Given the description of an element on the screen output the (x, y) to click on. 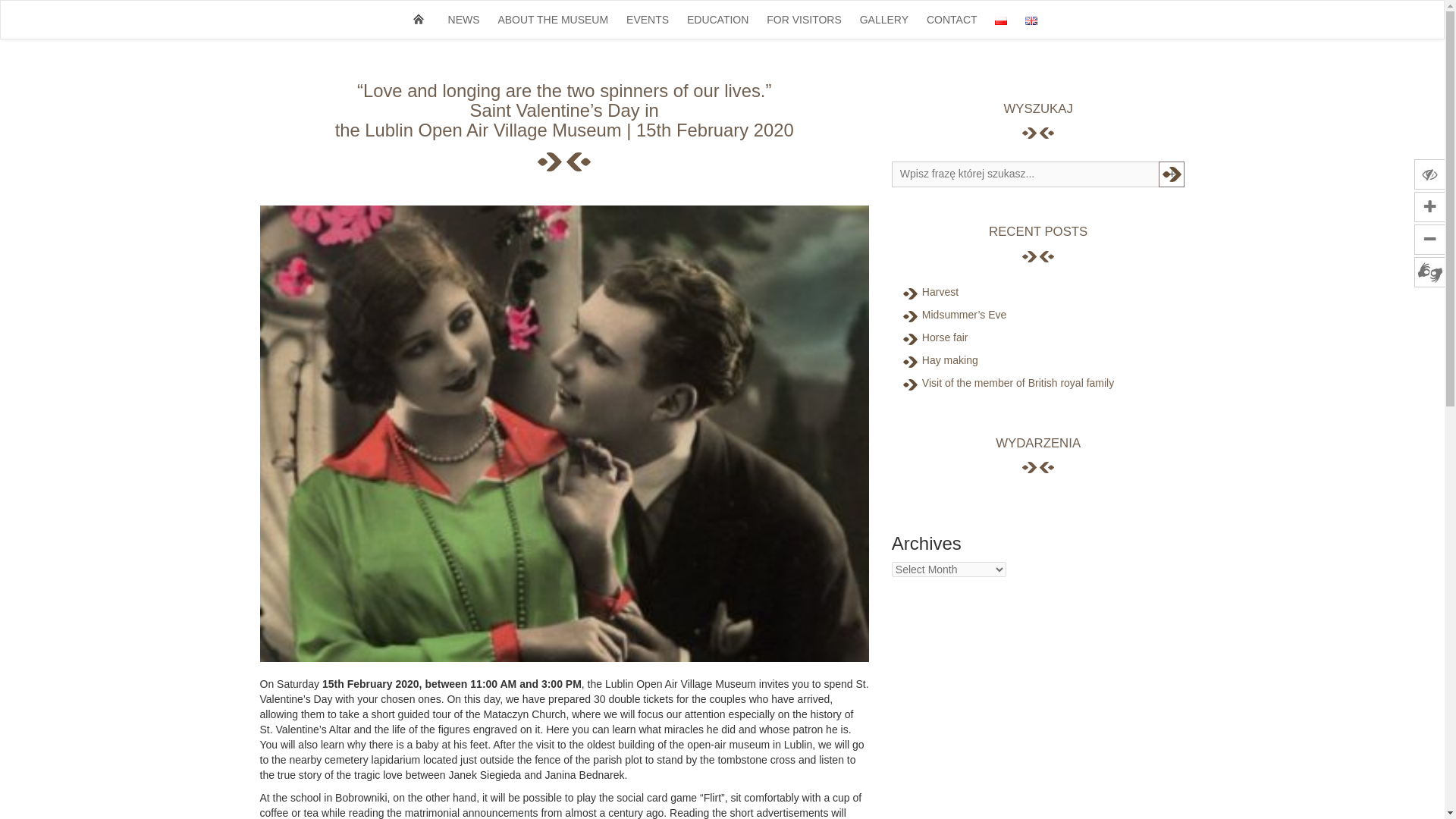
ABOUT THE MUSEUM (552, 19)
Horse fair (944, 337)
NEWS (464, 19)
EVENTS (647, 19)
EDUCATION (717, 19)
HOME (418, 18)
GALLERY (883, 19)
Harvest (939, 291)
FOR VISITORS (803, 19)
CONTACT (951, 19)
